Given the description of an element on the screen output the (x, y) to click on. 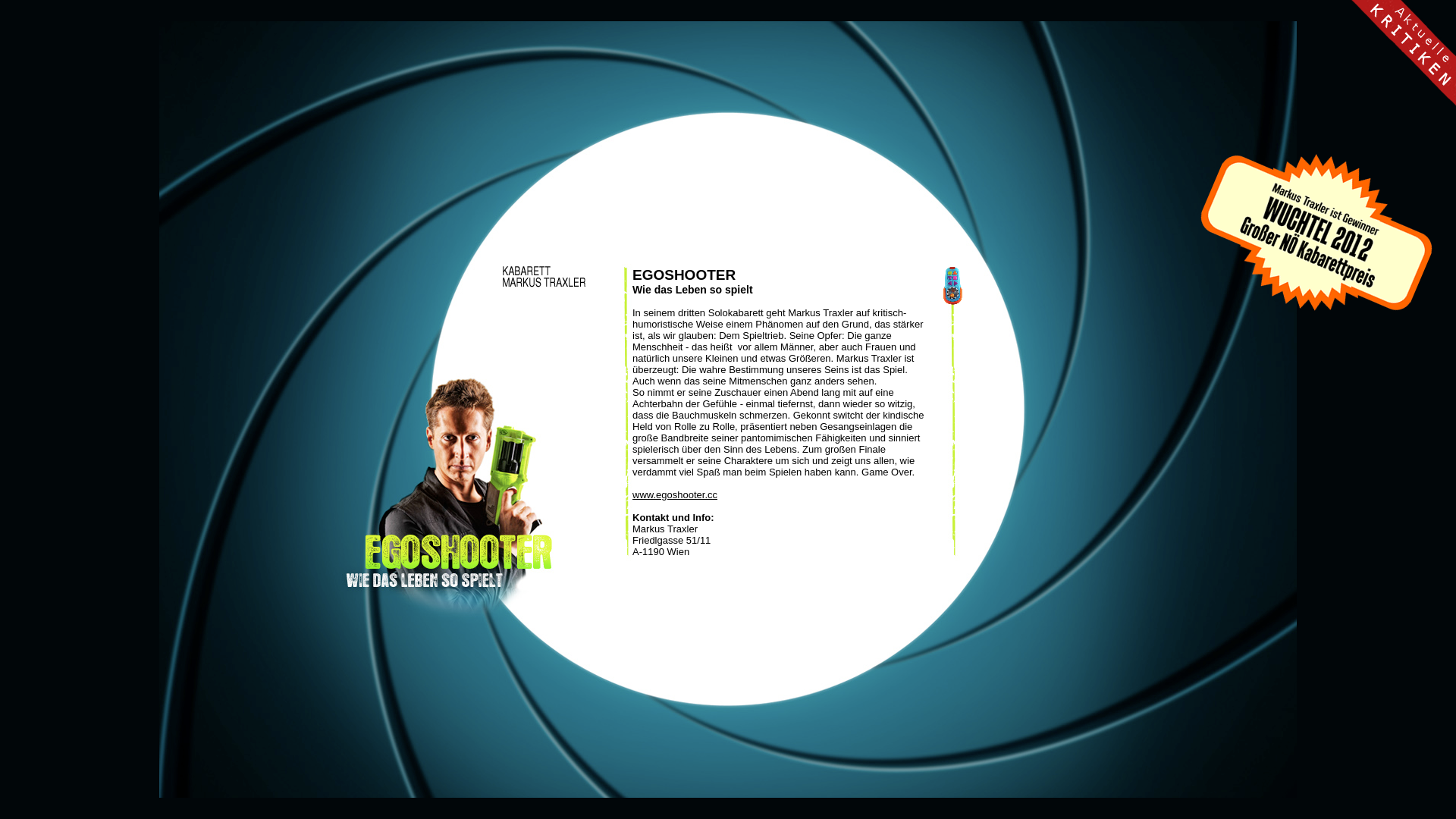
www.egoshooter.cc Element type: text (674, 494)
